Given the description of an element on the screen output the (x, y) to click on. 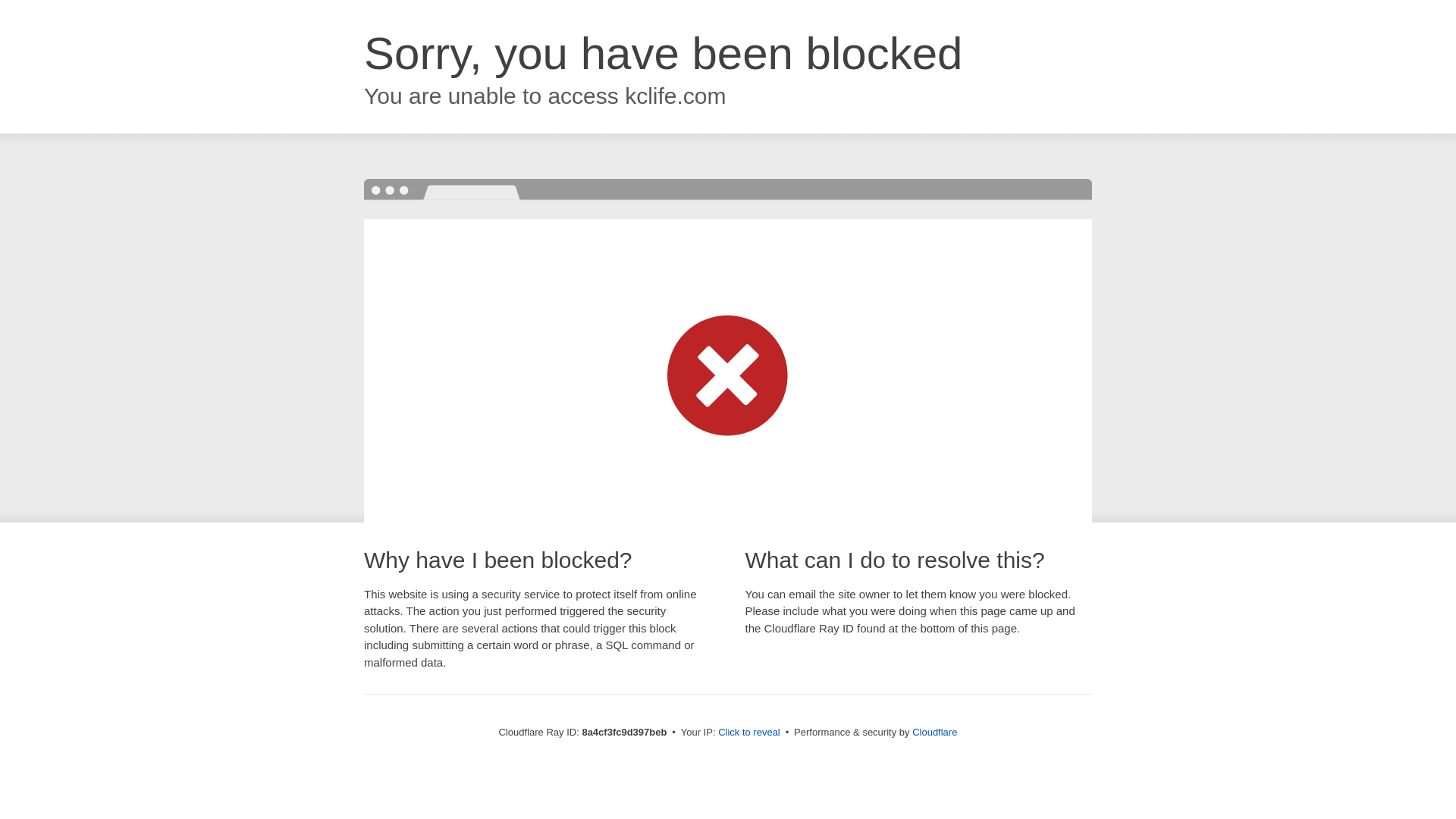
Click to reveal (748, 732)
Cloudflare (934, 731)
